Given the description of an element on the screen output the (x, y) to click on. 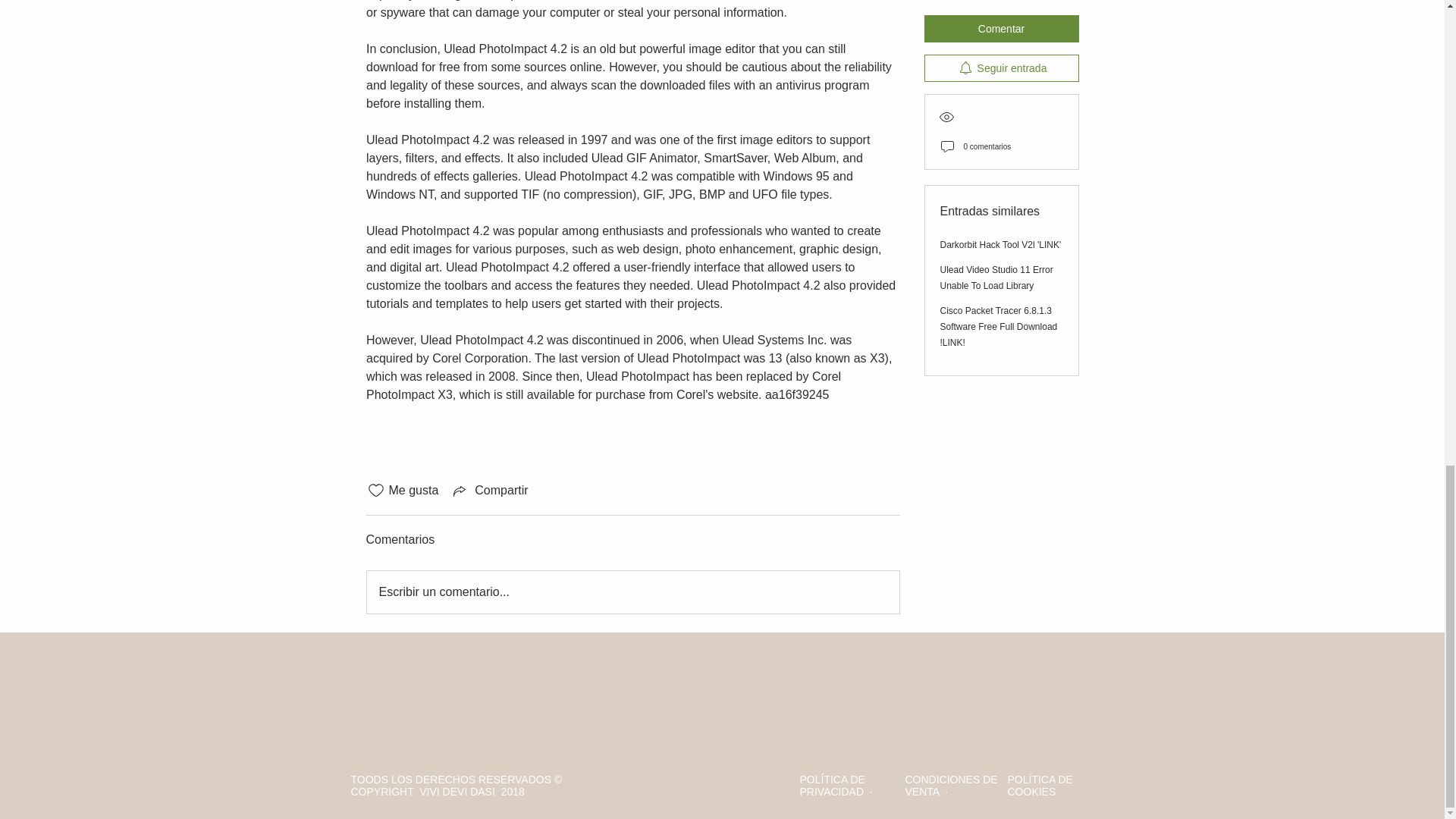
Compartir (488, 490)
Escribir un comentario... (632, 591)
